Given the description of an element on the screen output the (x, y) to click on. 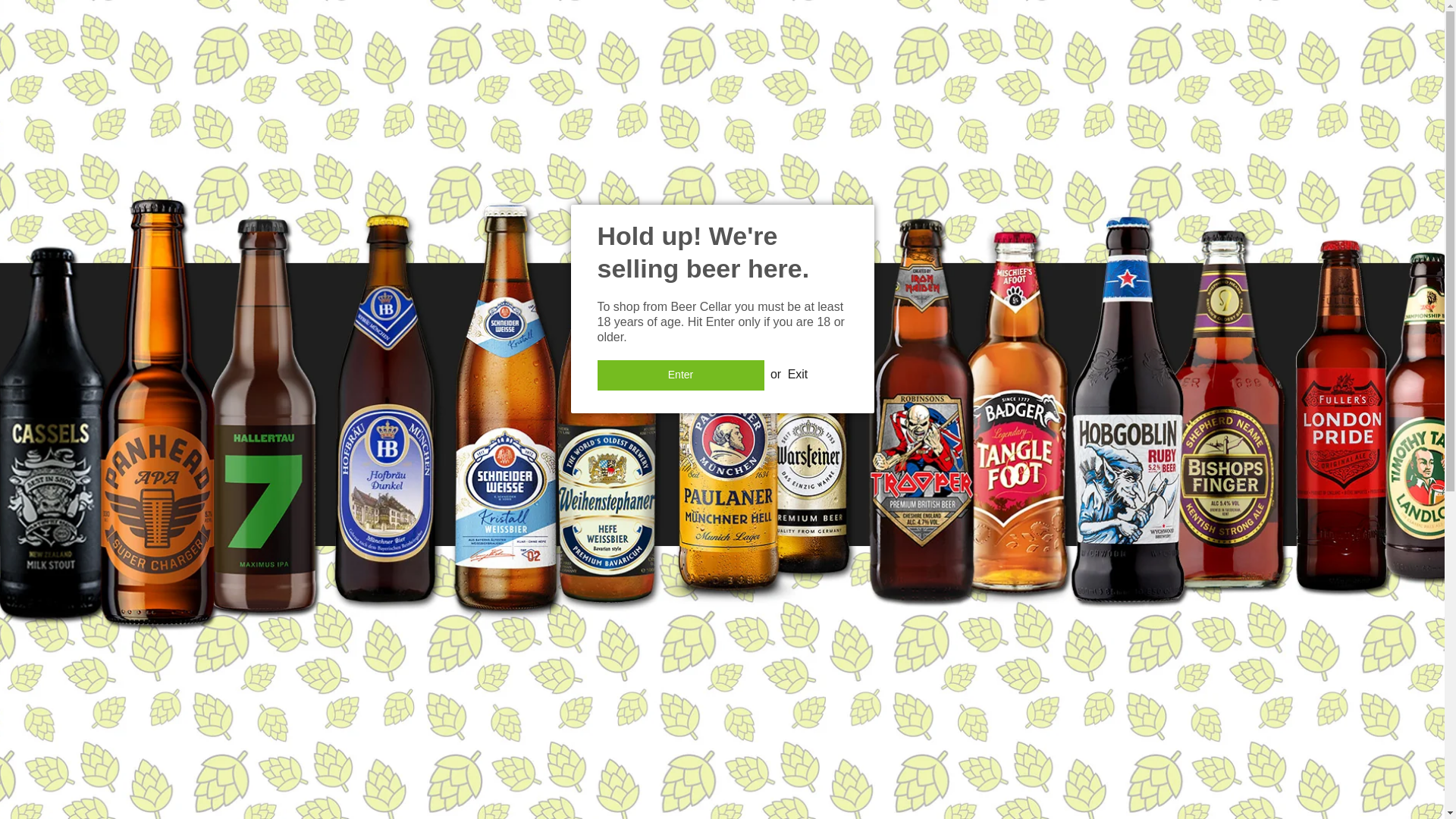
0 (941, 466)
Sold Out (941, 511)
Cart (1280, 14)
